Given the description of an element on the screen output the (x, y) to click on. 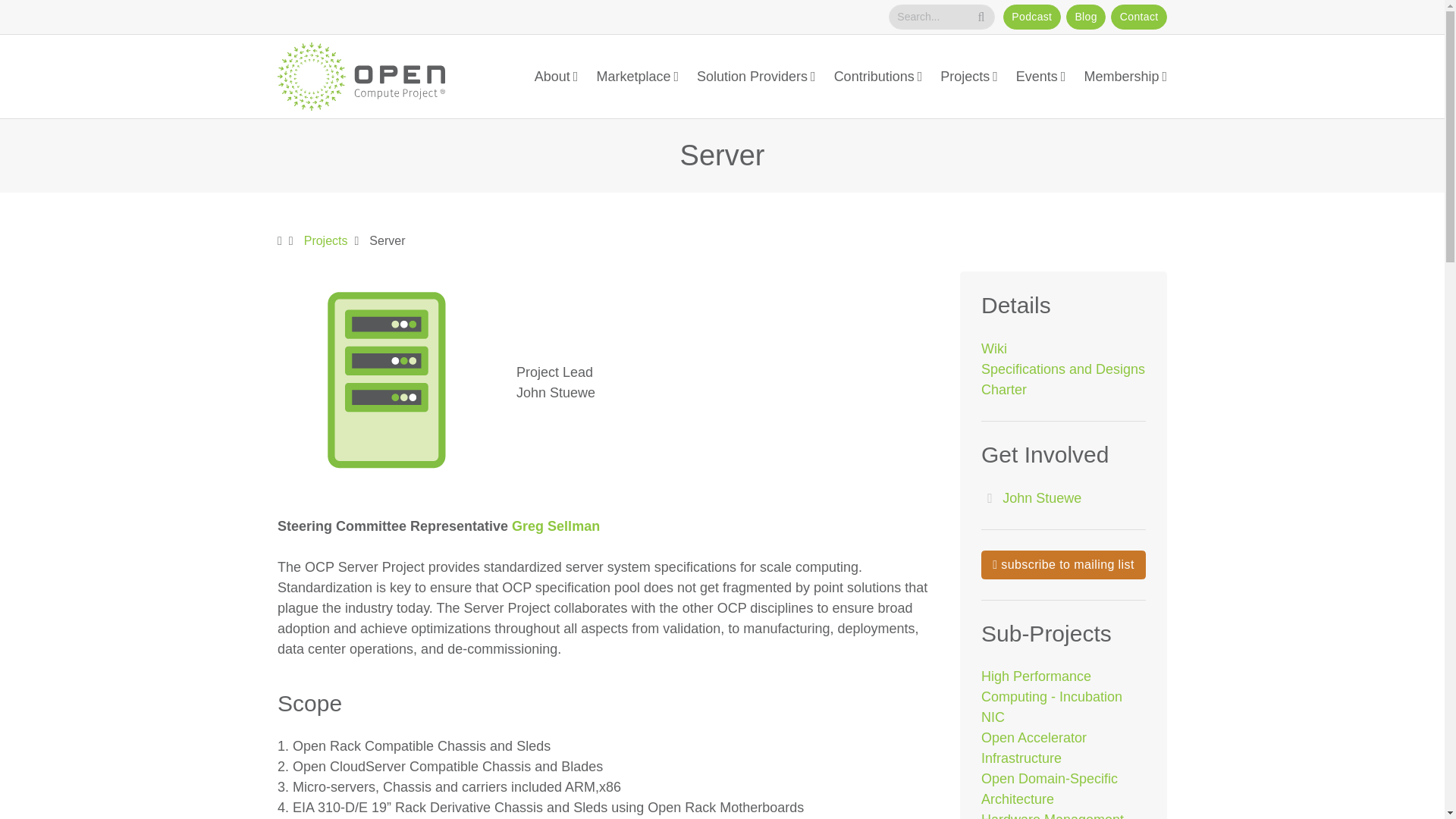
Contributions (878, 76)
About (556, 76)
Blog (1085, 17)
Solution Providers (756, 76)
Projects (968, 76)
Podcast (1032, 17)
Marketplace (636, 76)
Contact (1138, 17)
